Given the description of an element on the screen output the (x, y) to click on. 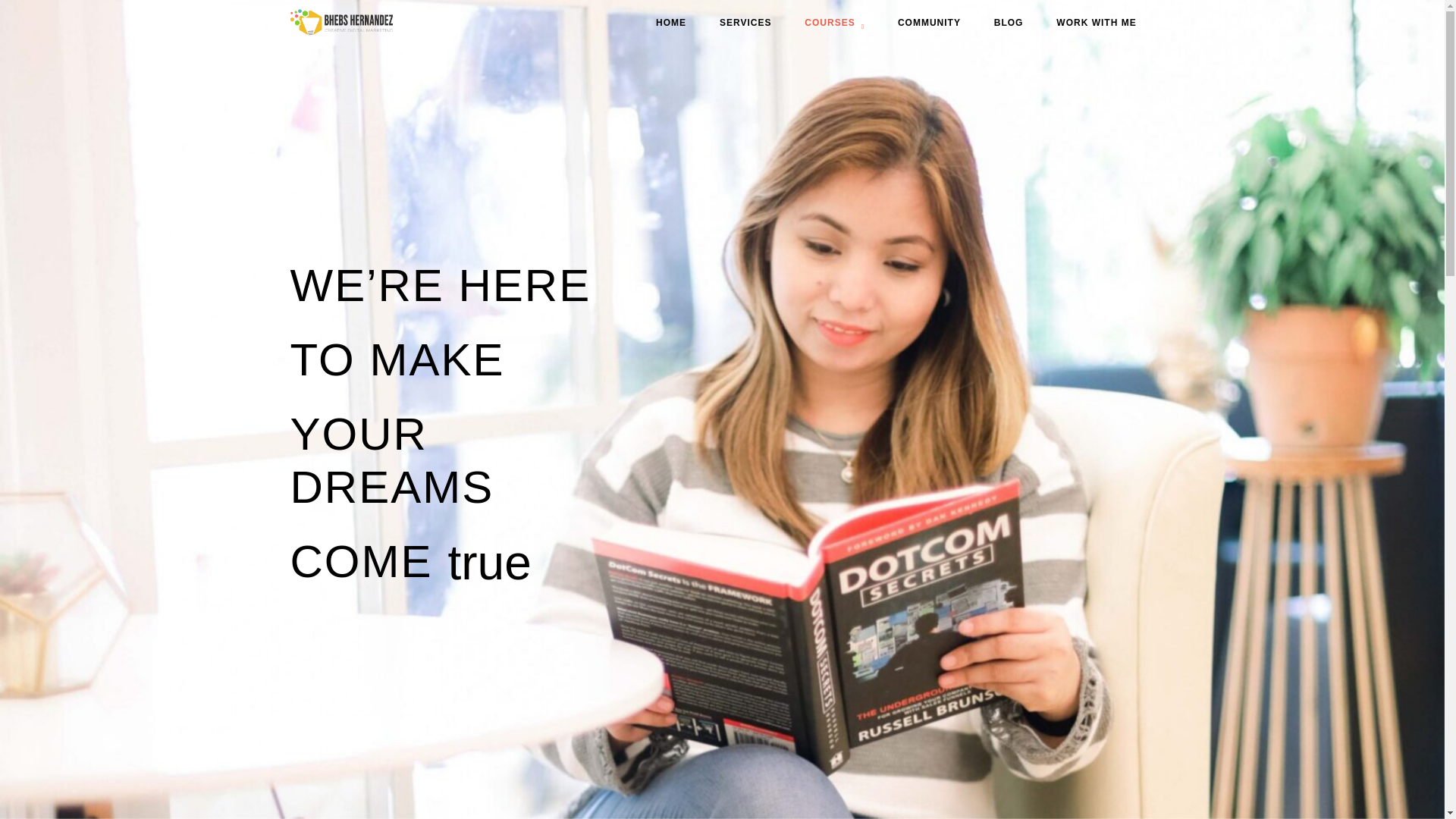
COMMUNITY (929, 22)
BLOG (1008, 22)
HOME (670, 22)
COURSES (834, 26)
WORK WITH ME (1096, 22)
SERVICES (745, 22)
